Given the description of an element on the screen output the (x, y) to click on. 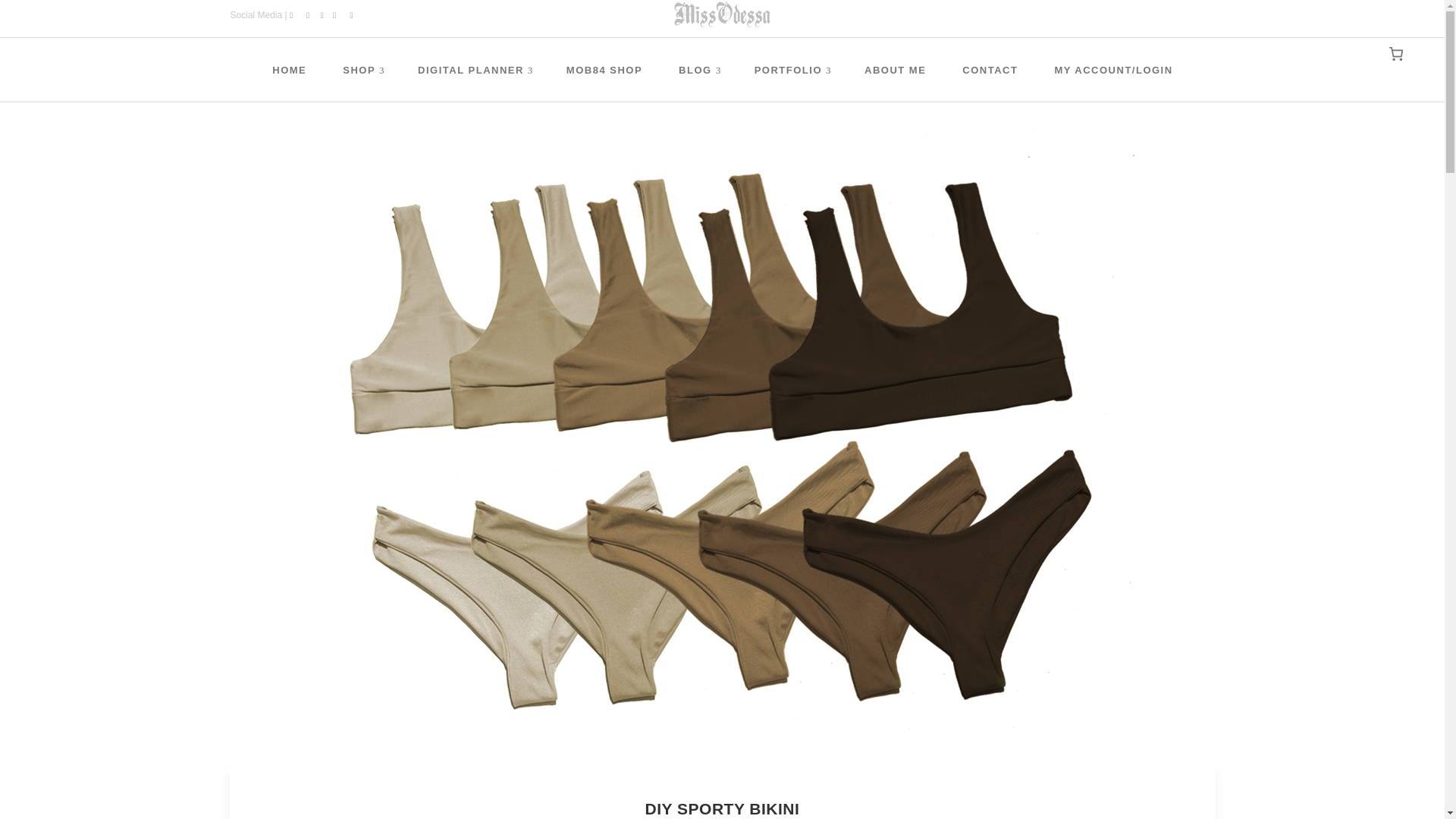
DIY Sporty Bikini (721, 448)
HOME (288, 69)
SHOP (361, 69)
DIGITAL PLANNER (473, 69)
MOB84 SHOP (604, 69)
DIY Sporty Bikini (722, 808)
BLOG (698, 69)
PORTFOLIO (790, 69)
